Given the description of an element on the screen output the (x, y) to click on. 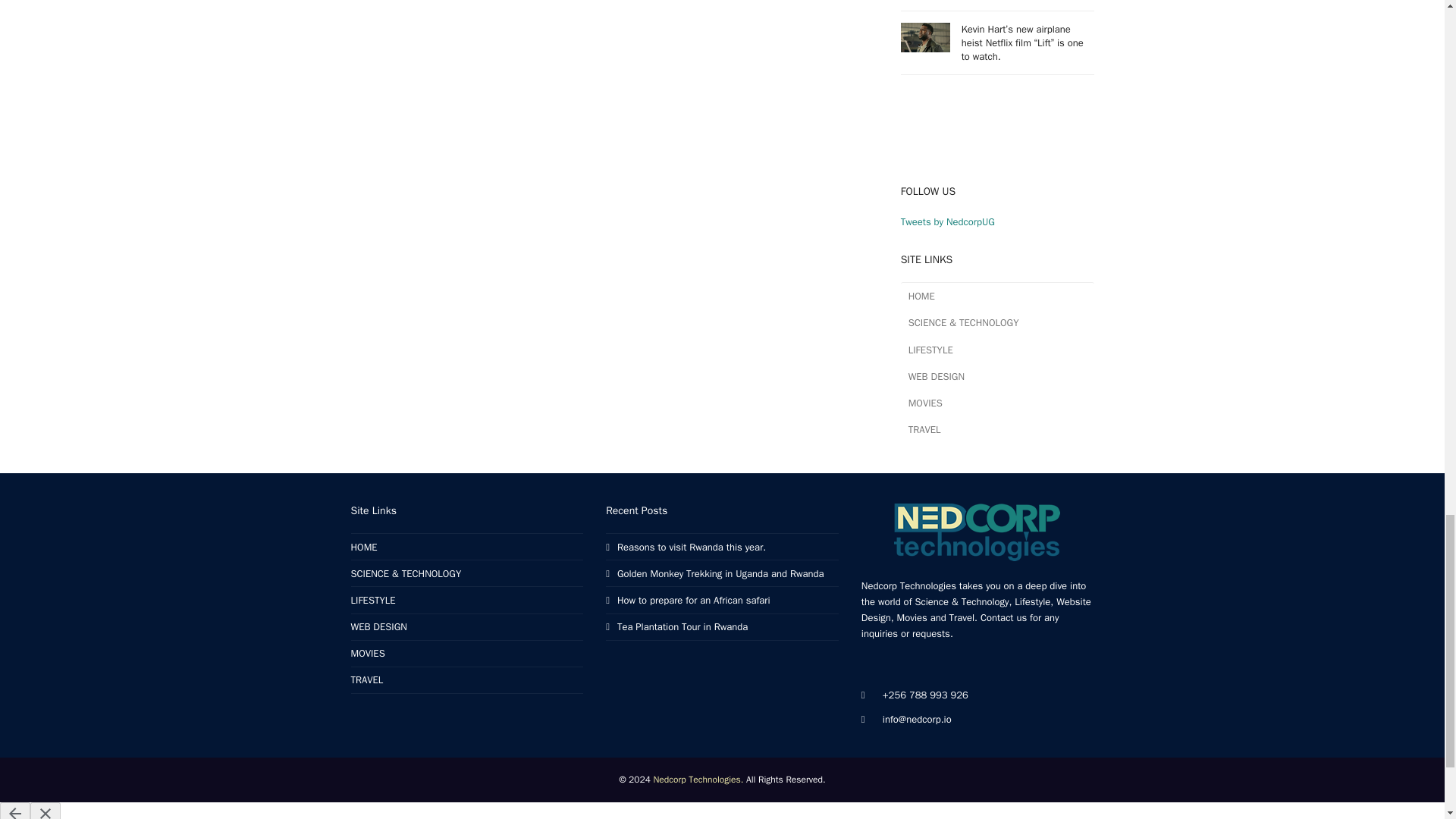
MOVIES (997, 402)
TRAVEL (366, 679)
Tea Plantation Tour in Rwanda (676, 626)
MOVIES (367, 653)
Reasons to visit Rwanda this year. (685, 546)
LIFESTYLE (372, 599)
TRAVEL (997, 429)
LIFESTYLE (997, 349)
WEB DESIGN (997, 376)
HOME (997, 295)
